Given the description of an element on the screen output the (x, y) to click on. 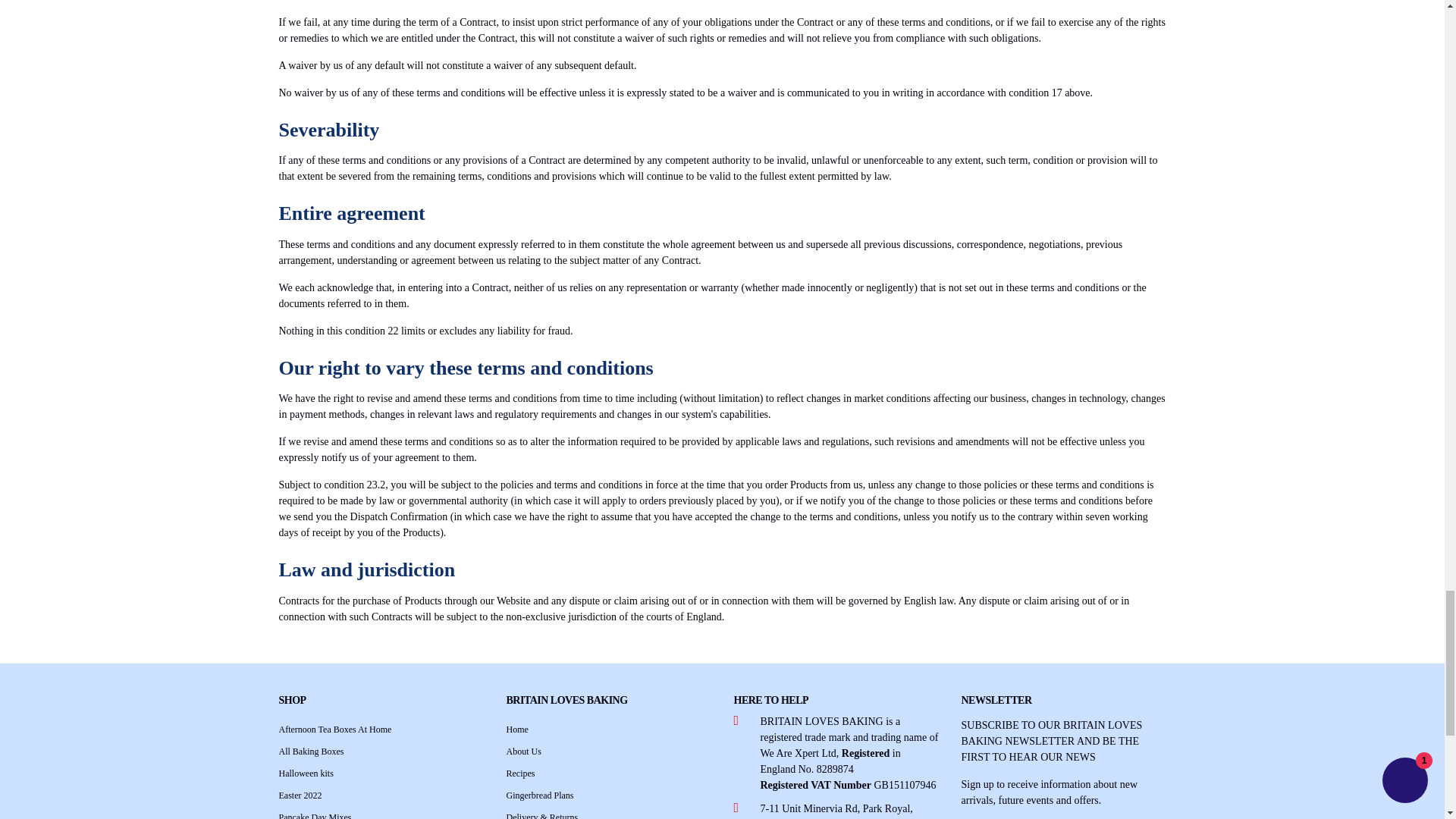
Easter 2022 (300, 795)
About Us (523, 751)
Recipes (520, 773)
Halloween kits (306, 773)
All Baking Boxes (311, 751)
Home (517, 728)
Gingerbread Plans (539, 795)
Afternoon Tea Boxes At Home (335, 728)
Pancake Day Mixes (315, 815)
